Given the description of an element on the screen output the (x, y) to click on. 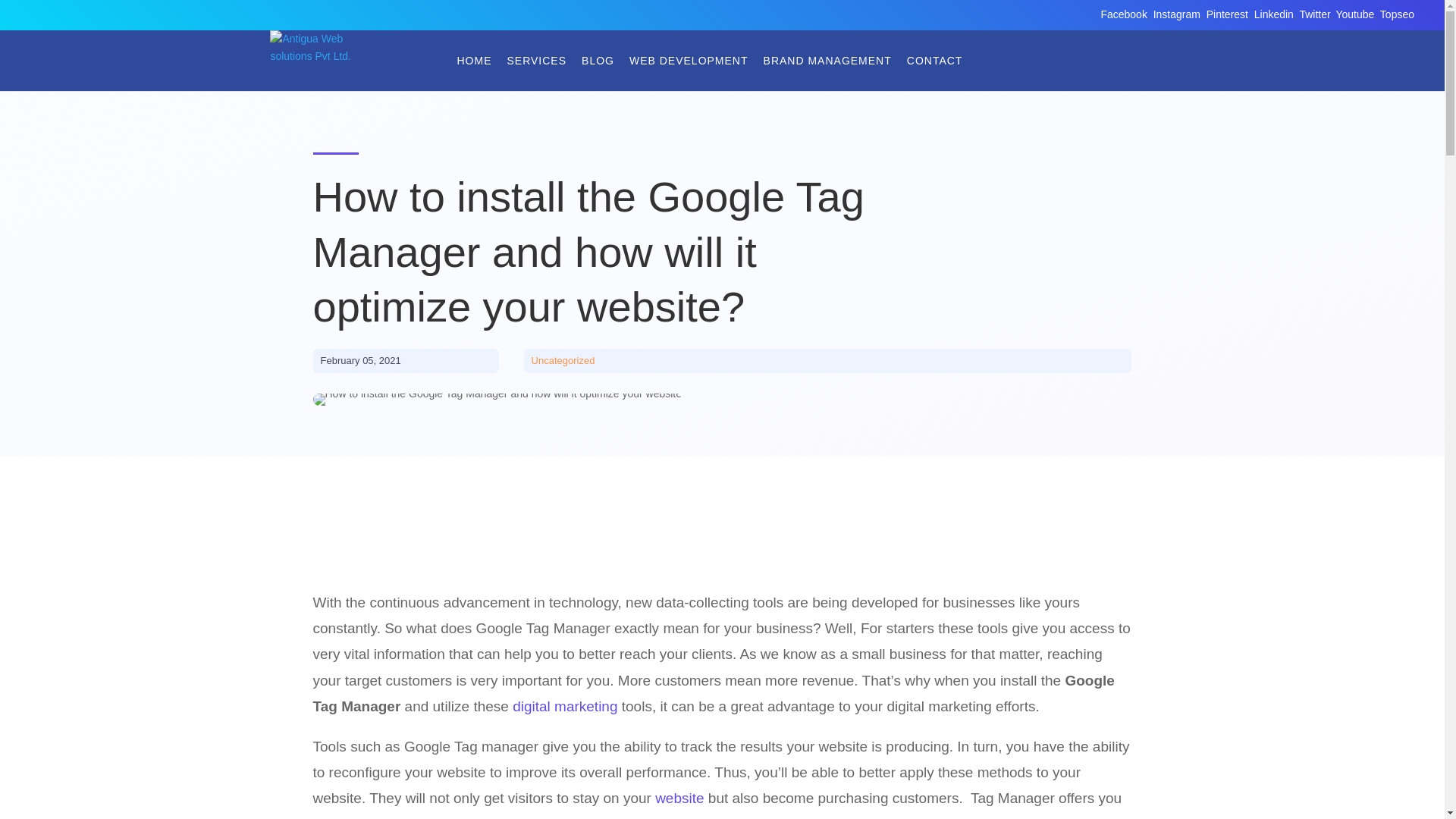
BLOG (597, 60)
HOME (473, 60)
SERVICES (536, 60)
Topseo (1396, 14)
Linkedin (1273, 14)
Youtube (1354, 14)
Instagram (1176, 14)
WEB DEVELOPMENT (688, 60)
Facebook (1123, 14)
Twitter (1313, 14)
